Given the description of an element on the screen output the (x, y) to click on. 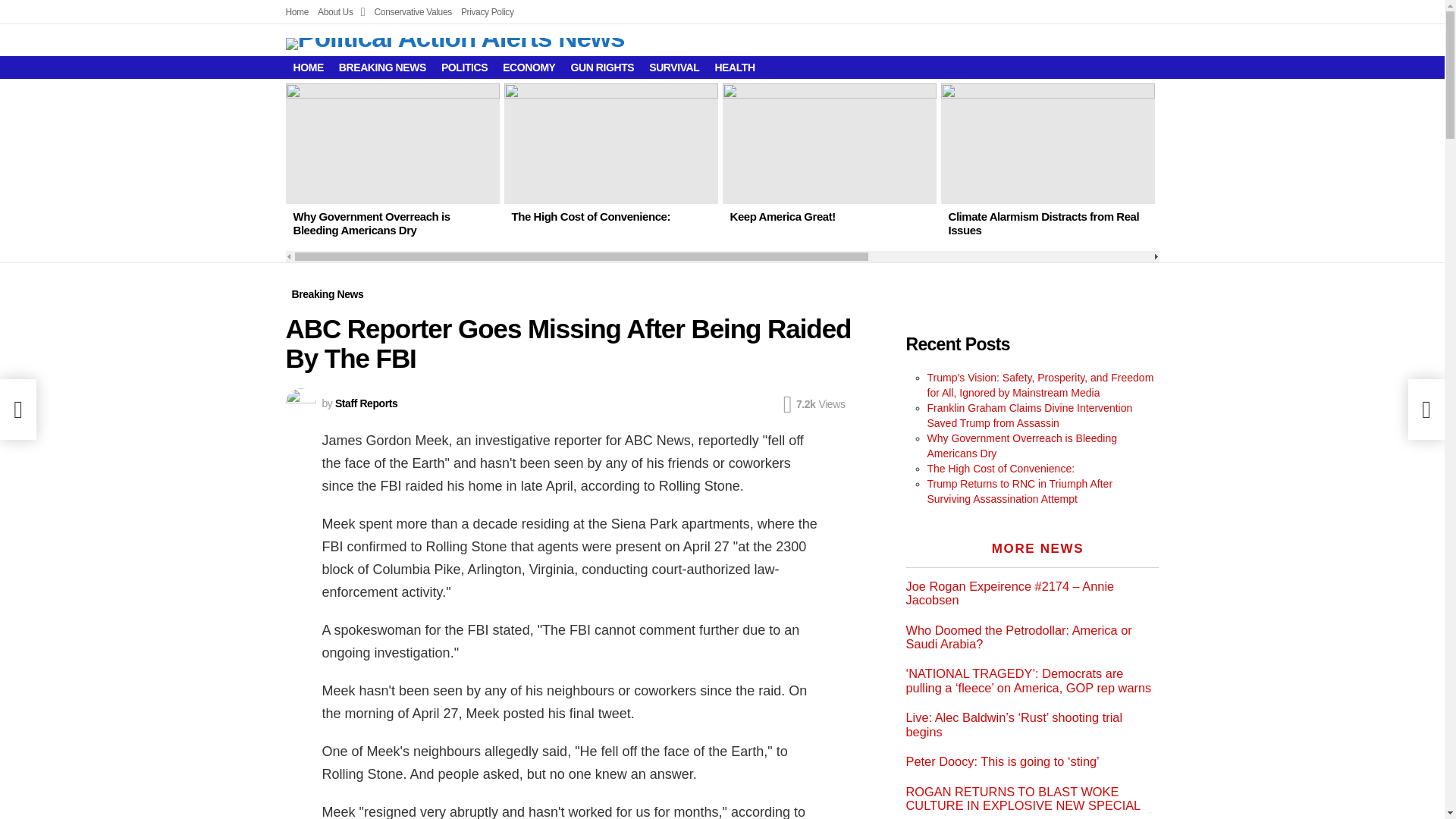
Keep America Great! (829, 143)
Climate Alarmism Distracts from Real Issues (1047, 143)
GUN RIGHTS (602, 67)
HOME (307, 67)
POLITICS (464, 67)
BREAKING NEWS (382, 67)
Breaking News (327, 293)
HEALTH (733, 67)
The Real Threat to American Sovereignty (1238, 222)
Conservative Values (412, 12)
Privacy Policy (487, 12)
About Us (341, 12)
Why Government Overreach is Bleeding Americans Dry (370, 222)
Posts by Staff Reports (365, 403)
SURVIVAL (674, 67)
